Given the description of an element on the screen output the (x, y) to click on. 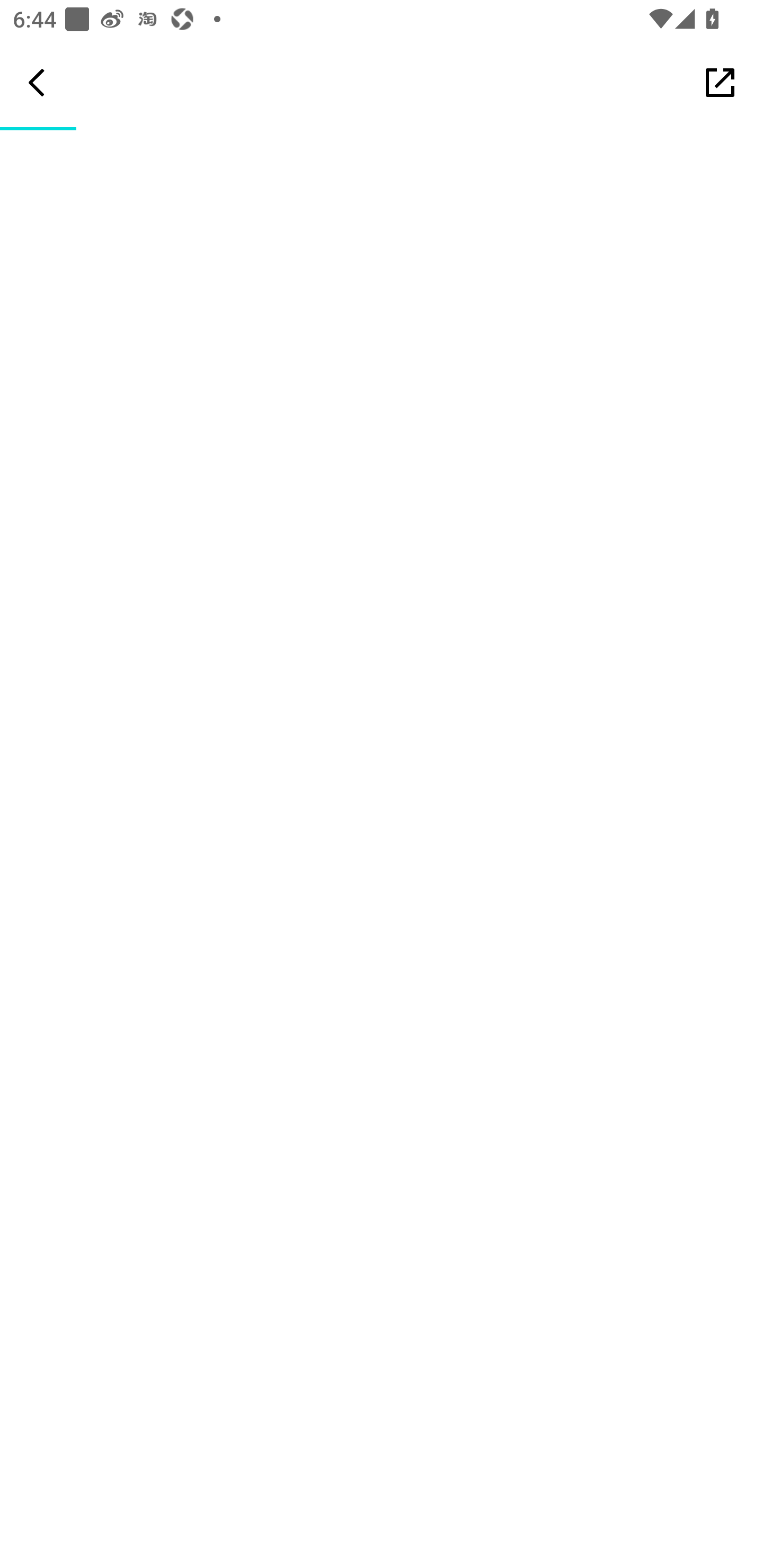
Navigate up (36, 82)
